Given the description of an element on the screen output the (x, y) to click on. 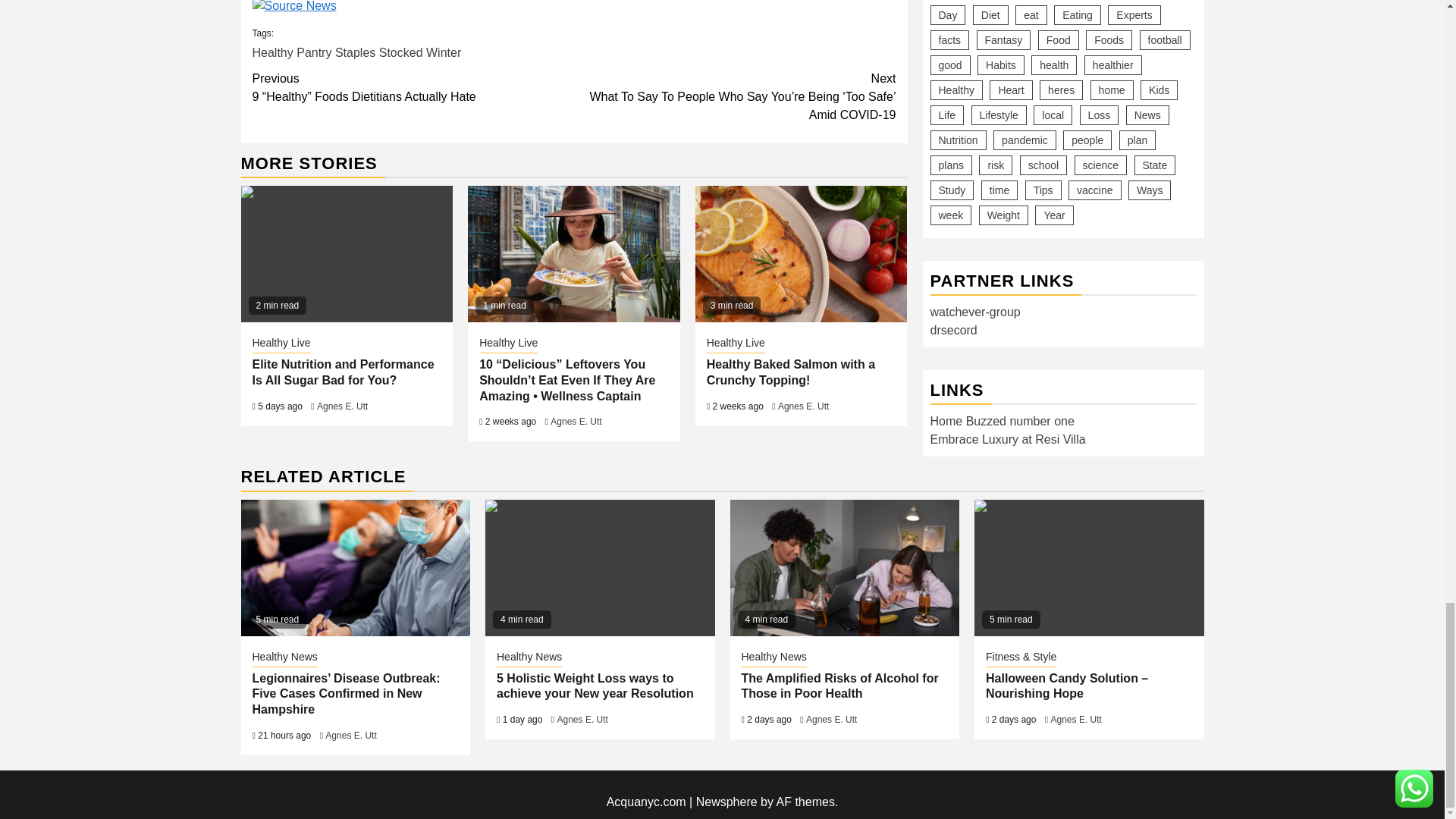
Pantry (314, 51)
The Amplified Risks of Alcohol for Those in Poor Health (844, 567)
Agnes E. Utt (342, 406)
Tags: (573, 42)
Staples (354, 51)
Healthy Baked Salmon with a Crunchy Topping! (801, 253)
Elite Nutrition and Performance Is All Sugar Bad for You? (346, 253)
Healthy Live (280, 343)
Stocked (400, 51)
